Given the description of an element on the screen output the (x, y) to click on. 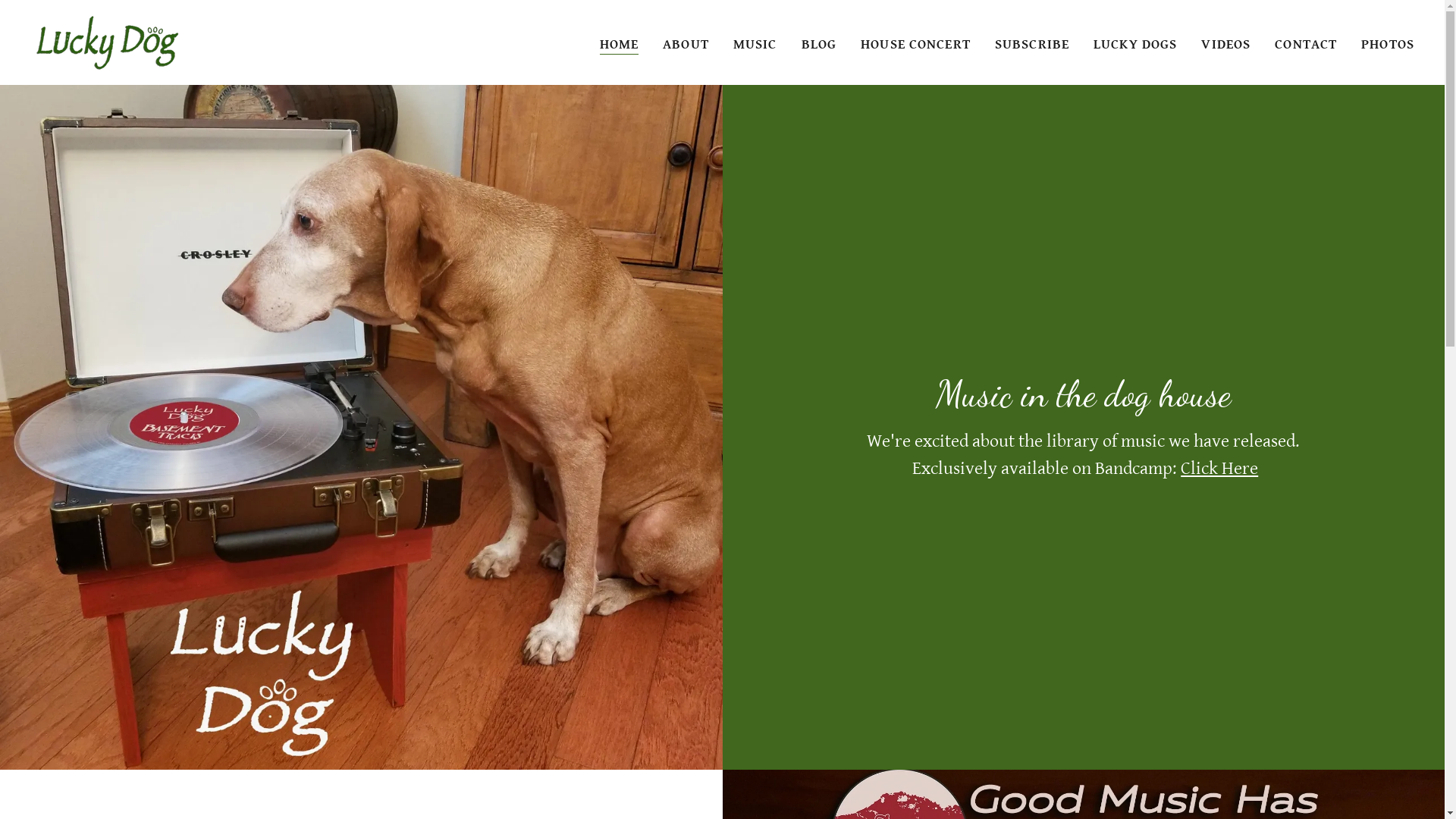
CONTACT Element type: text (1305, 43)
SUBSCRIBE Element type: text (1031, 43)
VIDEOS Element type: text (1225, 43)
Click Here Element type: text (1219, 468)
ABOUT Element type: text (685, 43)
MUSIC Element type: text (754, 43)
LUCKY DOGS Element type: text (1134, 43)
BLOG Element type: text (819, 43)
HOUSE CONCERT Element type: text (915, 43)
LuckyDog Element type: hover (106, 41)
HOME Element type: text (619, 43)
PHOTOS Element type: text (1387, 43)
